Given the description of an element on the screen output the (x, y) to click on. 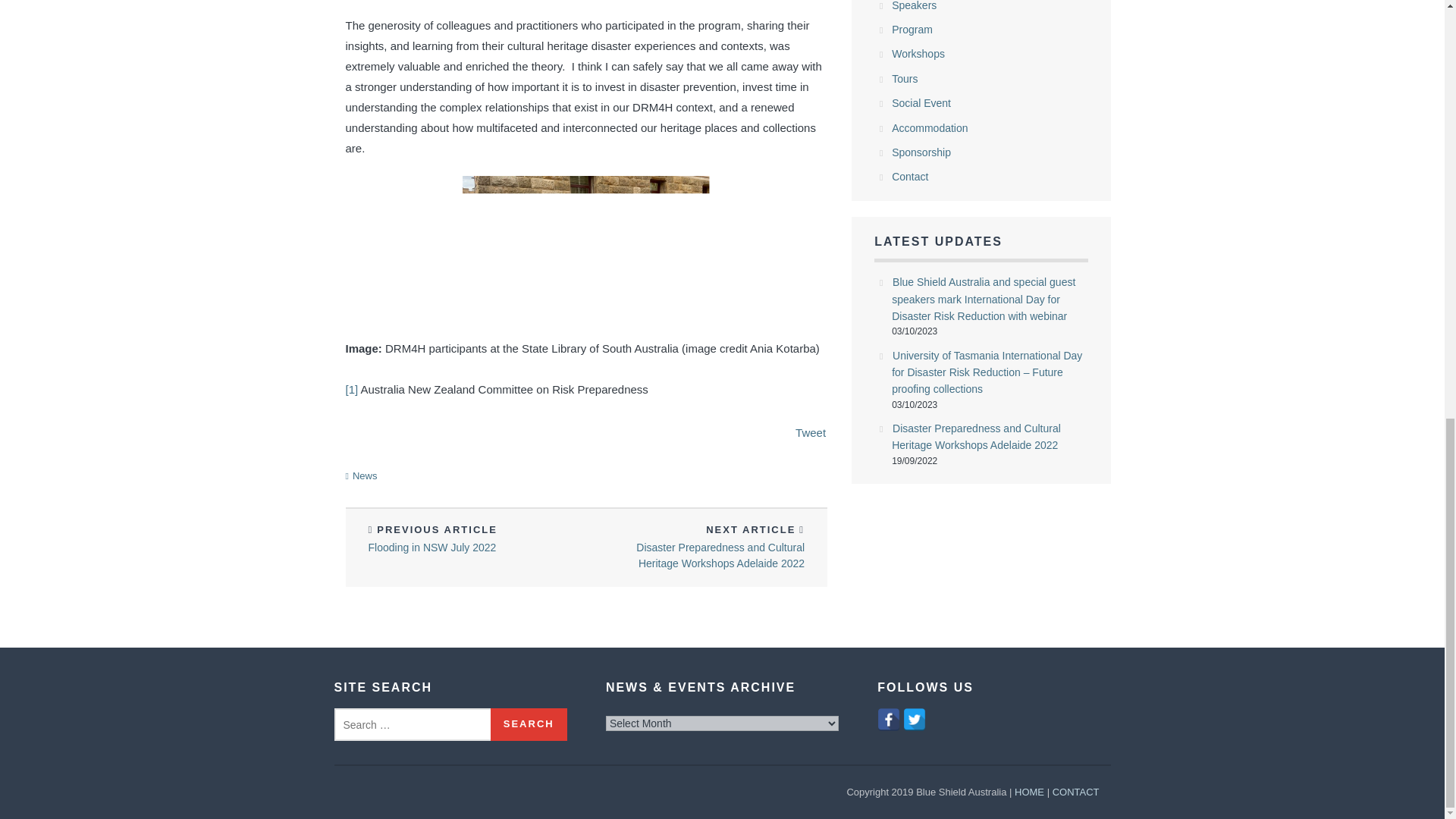
Search (528, 724)
Facebook (888, 719)
Twitter (914, 719)
Search (528, 724)
